Given the description of an element on the screen output the (x, y) to click on. 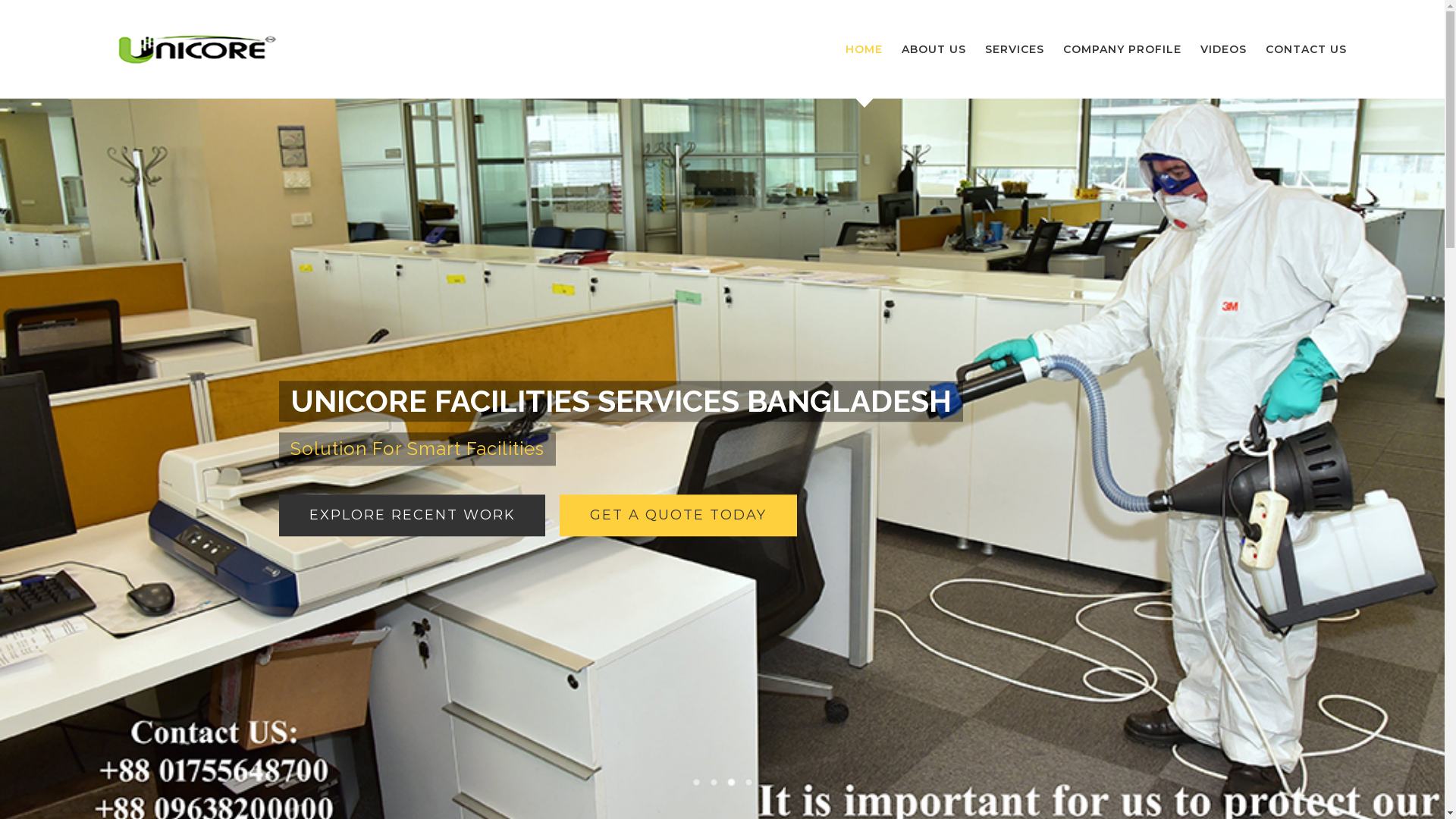
GET A QUOTE TODAY Element type: text (678, 515)
SERVICES Element type: text (1014, 49)
2 Element type: text (713, 782)
EXPLORE RECENT WORK Element type: text (412, 515)
ABOUT US Element type: text (933, 49)
CONTACT US Element type: text (1305, 49)
1 Element type: text (695, 782)
COMPANY PROFILE Element type: text (1122, 49)
3 Element type: text (730, 782)
VIDEOS Element type: text (1223, 49)
4 Element type: text (748, 782)
HOME Element type: text (863, 49)
